Given the description of an element on the screen output the (x, y) to click on. 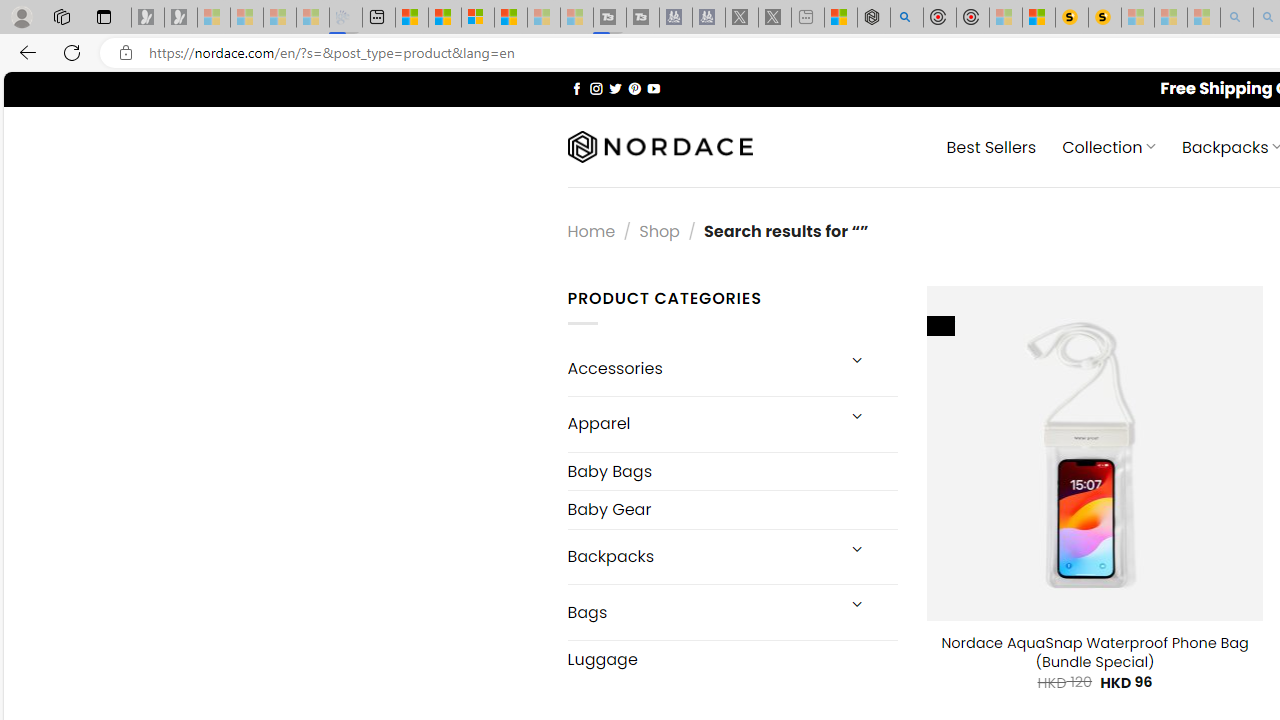
Follow on YouTube (653, 88)
Apparel (700, 423)
Accessories (700, 368)
Workspaces (61, 16)
Streaming Coverage | T3 - Sleeping (609, 17)
Nordace (659, 147)
Wildlife - MSN (841, 17)
Baby Bags (732, 471)
Baby Bags (732, 470)
Nordace (659, 147)
Personal Profile (21, 16)
Bags (700, 613)
New tab - Sleeping (808, 17)
